Given the description of an element on the screen output the (x, y) to click on. 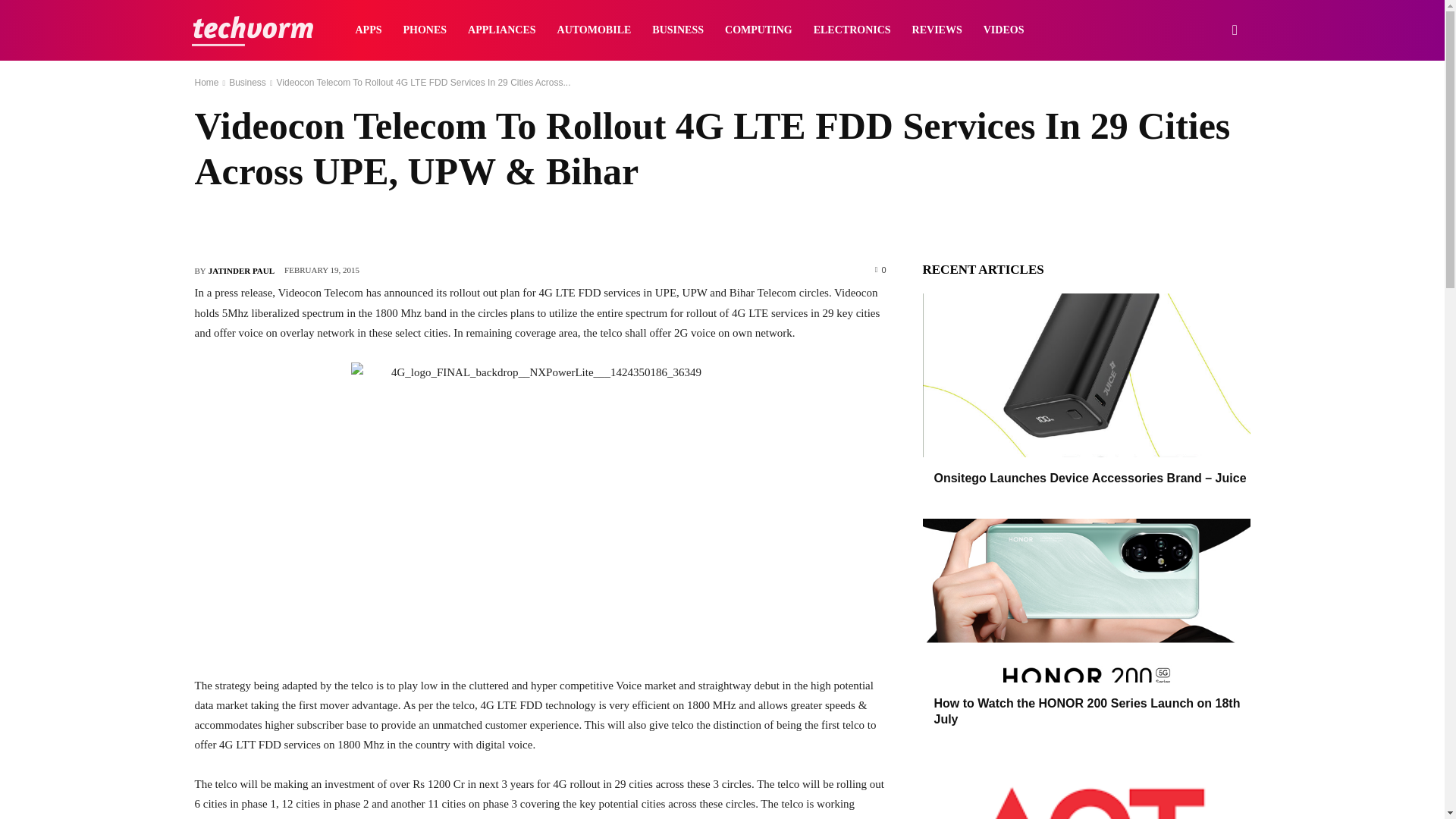
REVIEWS (936, 30)
TechVorm (251, 30)
ELECTRONICS (852, 30)
APPS (367, 30)
APPLIANCES (501, 30)
0 (880, 268)
Business (247, 81)
PHONES (425, 30)
Home (205, 81)
JATINDER PAUL (241, 270)
Technology news, as it happens! (251, 30)
VIDEOS (1003, 30)
